Given the description of an element on the screen output the (x, y) to click on. 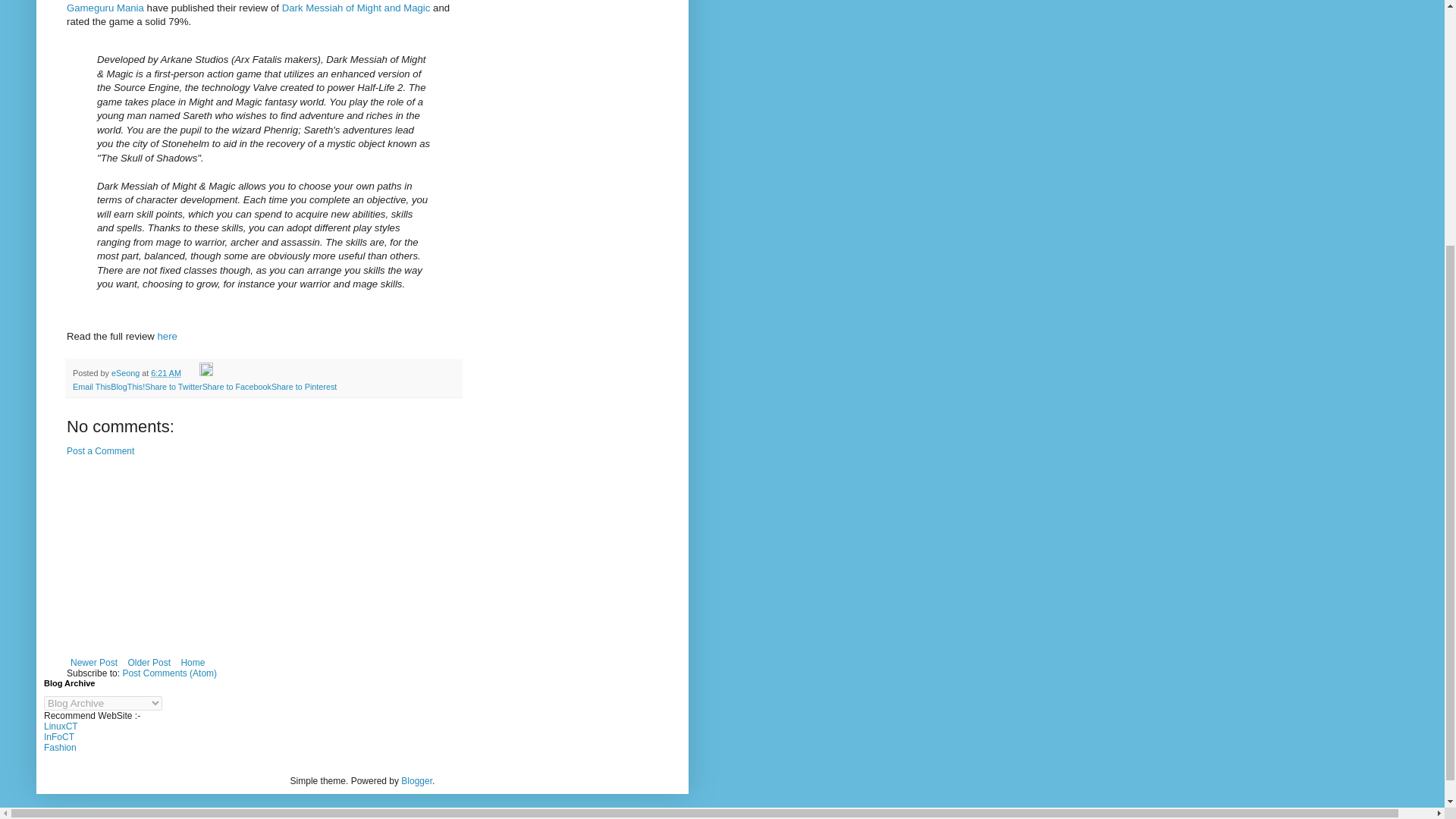
Email This (91, 386)
Share to Pinterest (303, 386)
Share to Pinterest (303, 386)
Home (192, 662)
Newer Post (93, 662)
here (166, 336)
Share to Facebook (236, 386)
Email This (91, 386)
Edit Post (205, 372)
Blogger (416, 780)
Post a Comment (99, 450)
InFoCT (58, 737)
BlogThis! (127, 386)
Email Post (191, 372)
6:21 AM (165, 372)
